Given the description of an element on the screen output the (x, y) to click on. 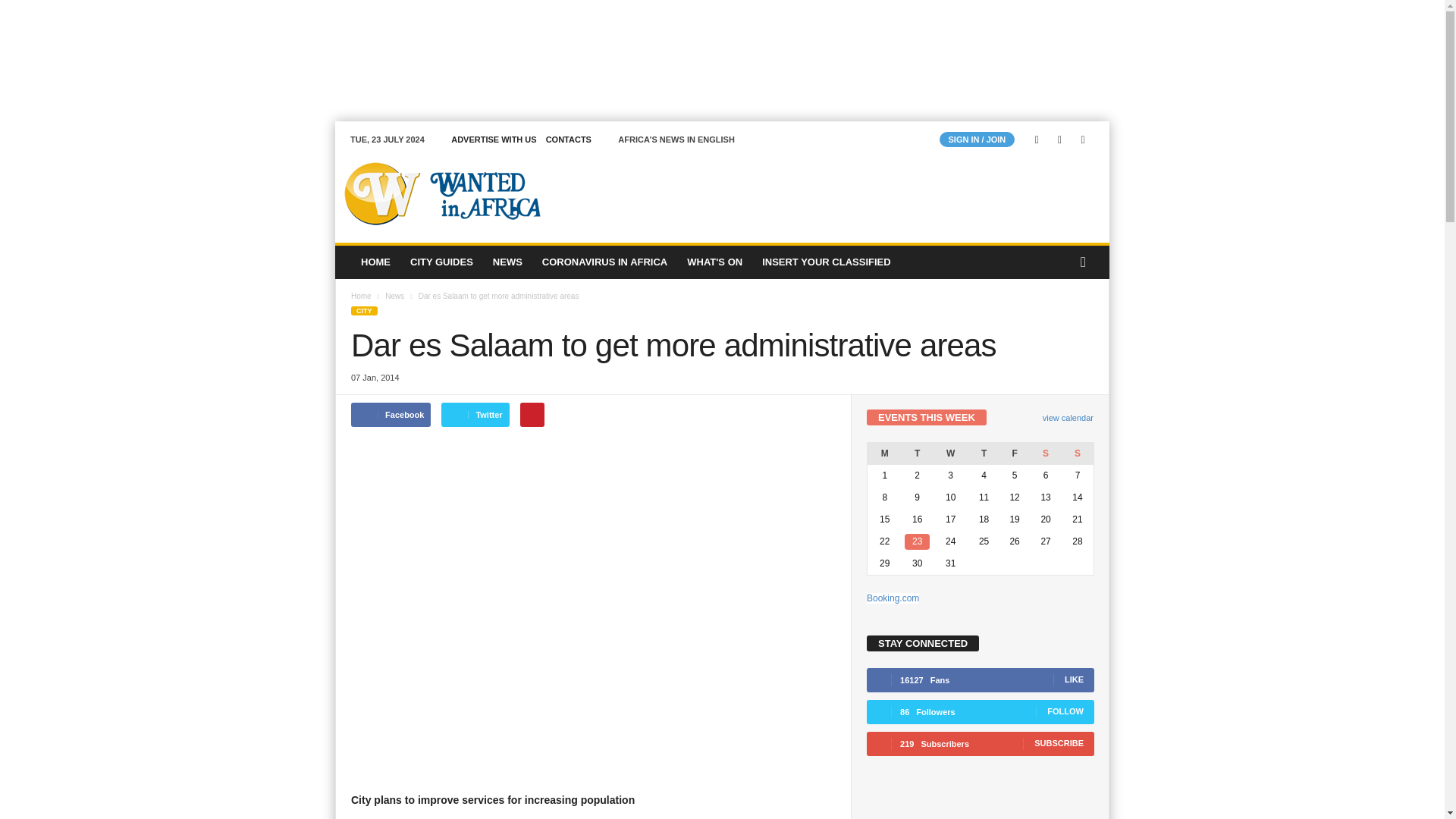
Wanted in Africa (437, 192)
ADVERTISE WITH US (493, 139)
Wanted in Africa (437, 192)
CONTACTS (568, 139)
